Given the description of an element on the screen output the (x, y) to click on. 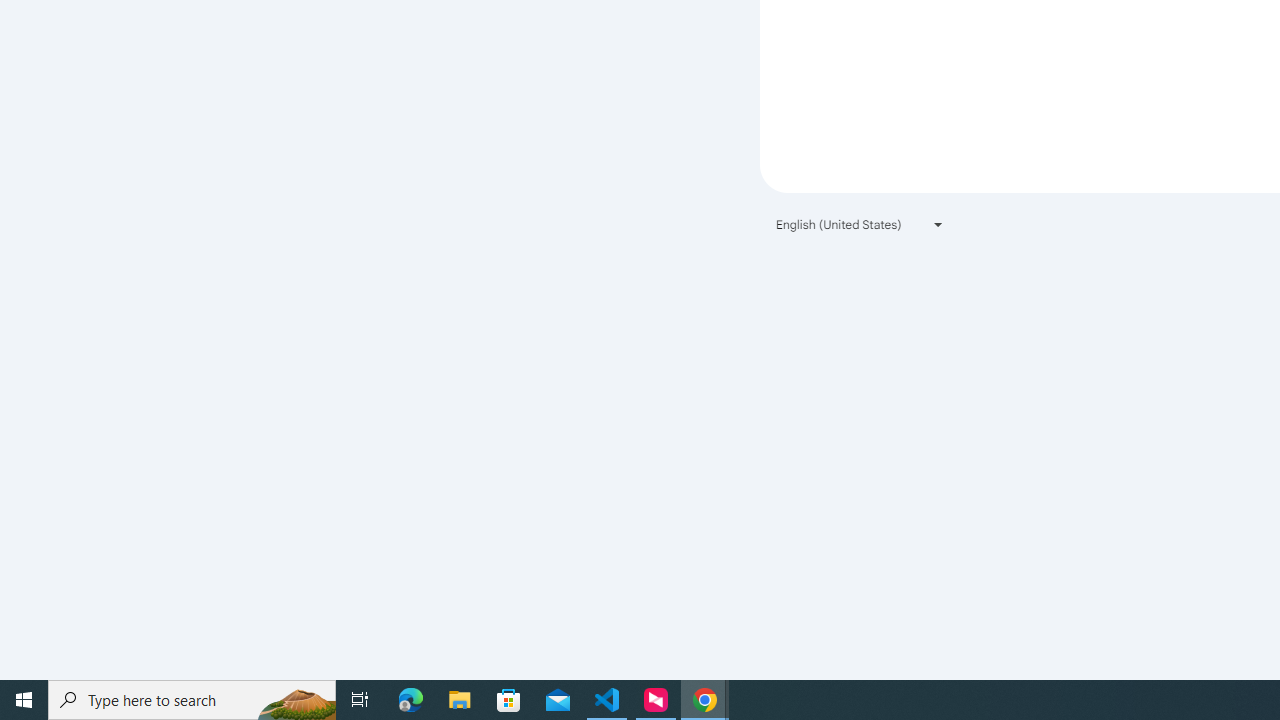
English (United States) (860, 224)
